Given the description of an element on the screen output the (x, y) to click on. 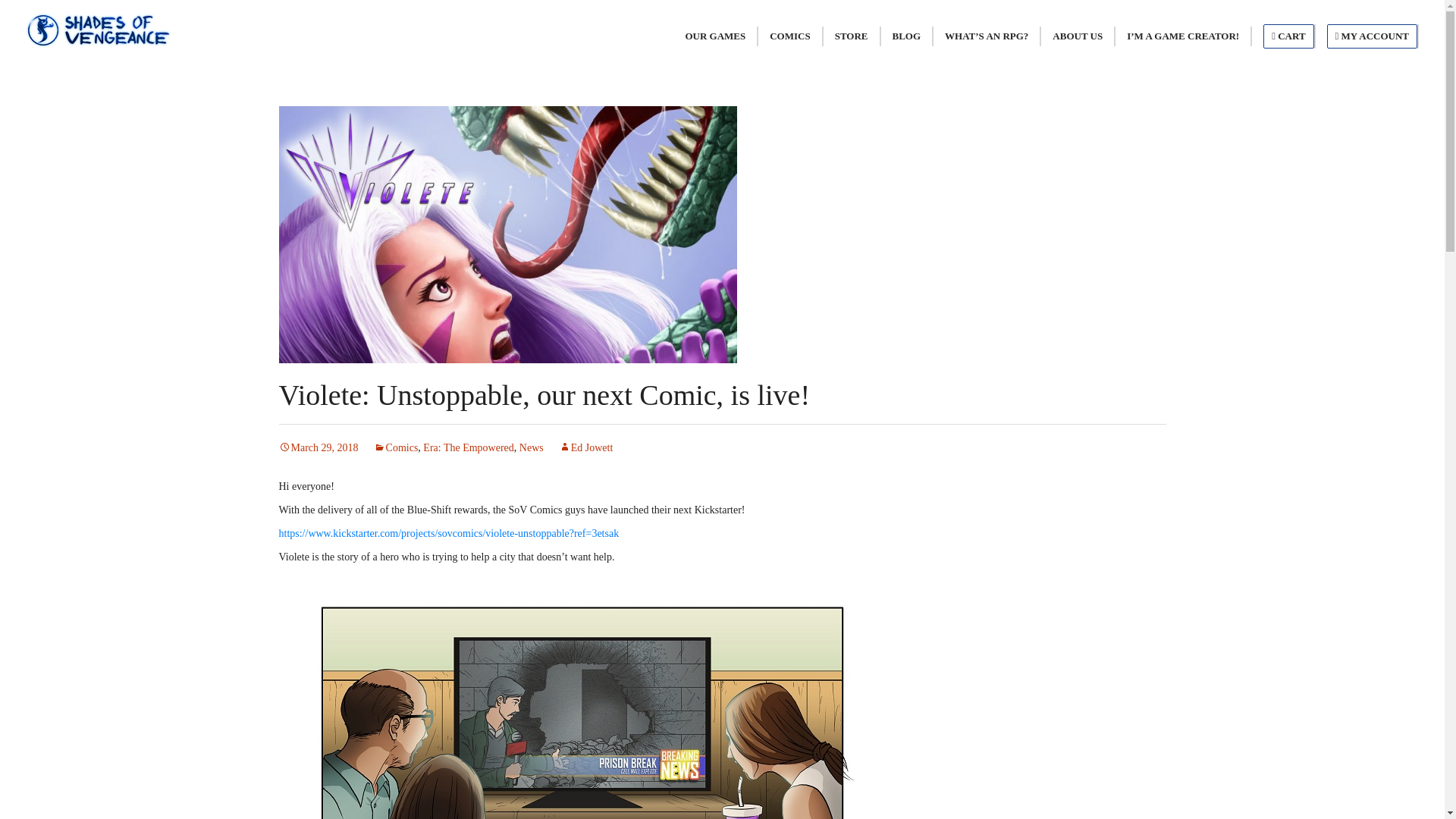
MY ACCOUNT (1371, 36)
Era: The Empowered (468, 447)
Comics (396, 447)
BLOG (906, 36)
STORE (851, 36)
Permalink to Violete: Unstoppable, our next Comic, is live! (318, 447)
Ed Jowett (585, 447)
ABOUT US (1077, 36)
March 29, 2018 (318, 447)
CART (1288, 36)
COMICS (789, 36)
OUR GAMES (714, 36)
News (531, 447)
View all posts by Ed Jowett (585, 447)
